Given the description of an element on the screen output the (x, y) to click on. 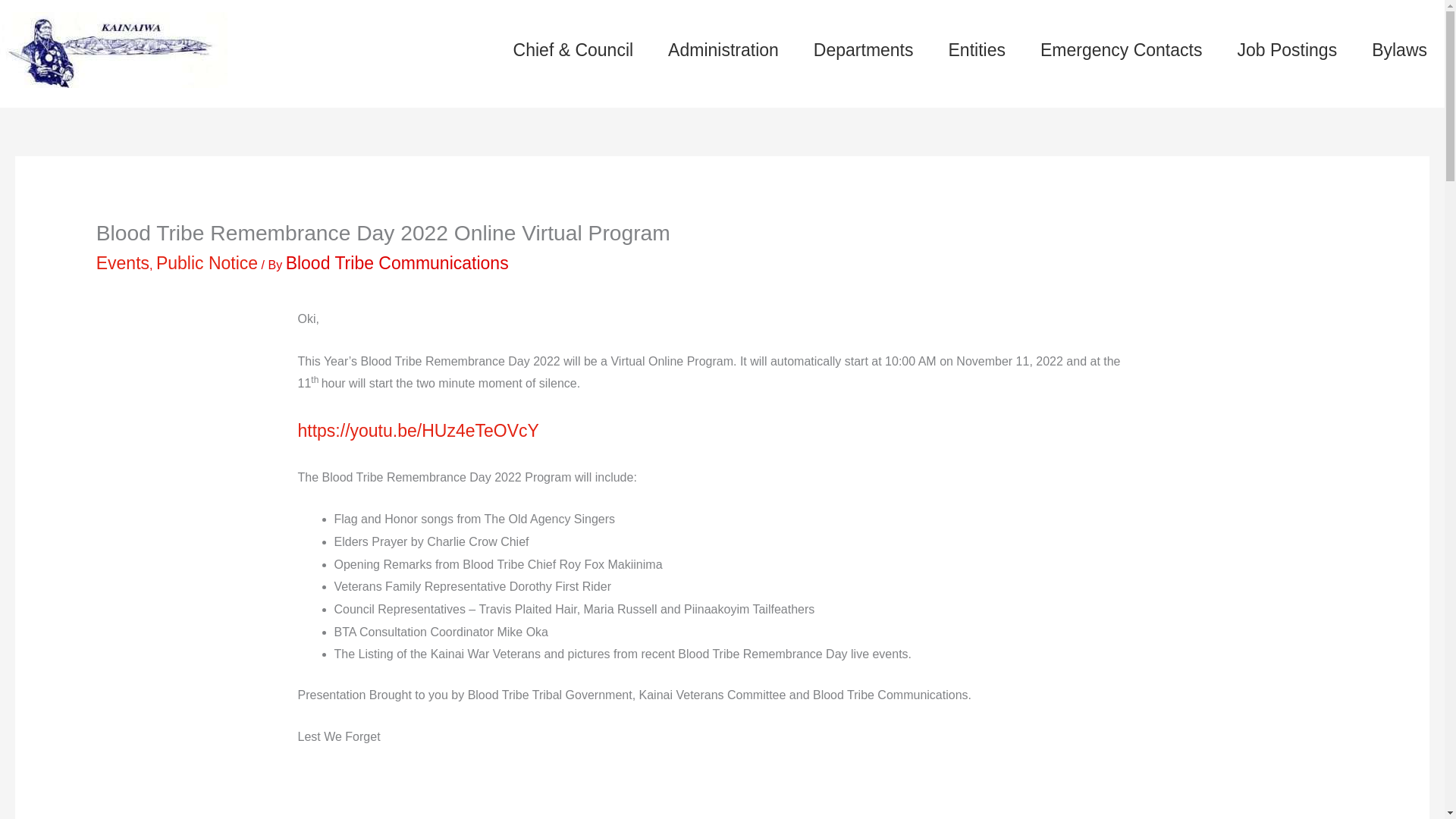
Public Notice (206, 262)
Emergency Contacts (1121, 50)
View all posts by Blood Tribe Communications (396, 262)
Administration (723, 50)
Departments (863, 50)
Job Postings (1287, 50)
Entities (977, 50)
Blood Tribe Communications (396, 262)
Events (122, 262)
